Given the description of an element on the screen output the (x, y) to click on. 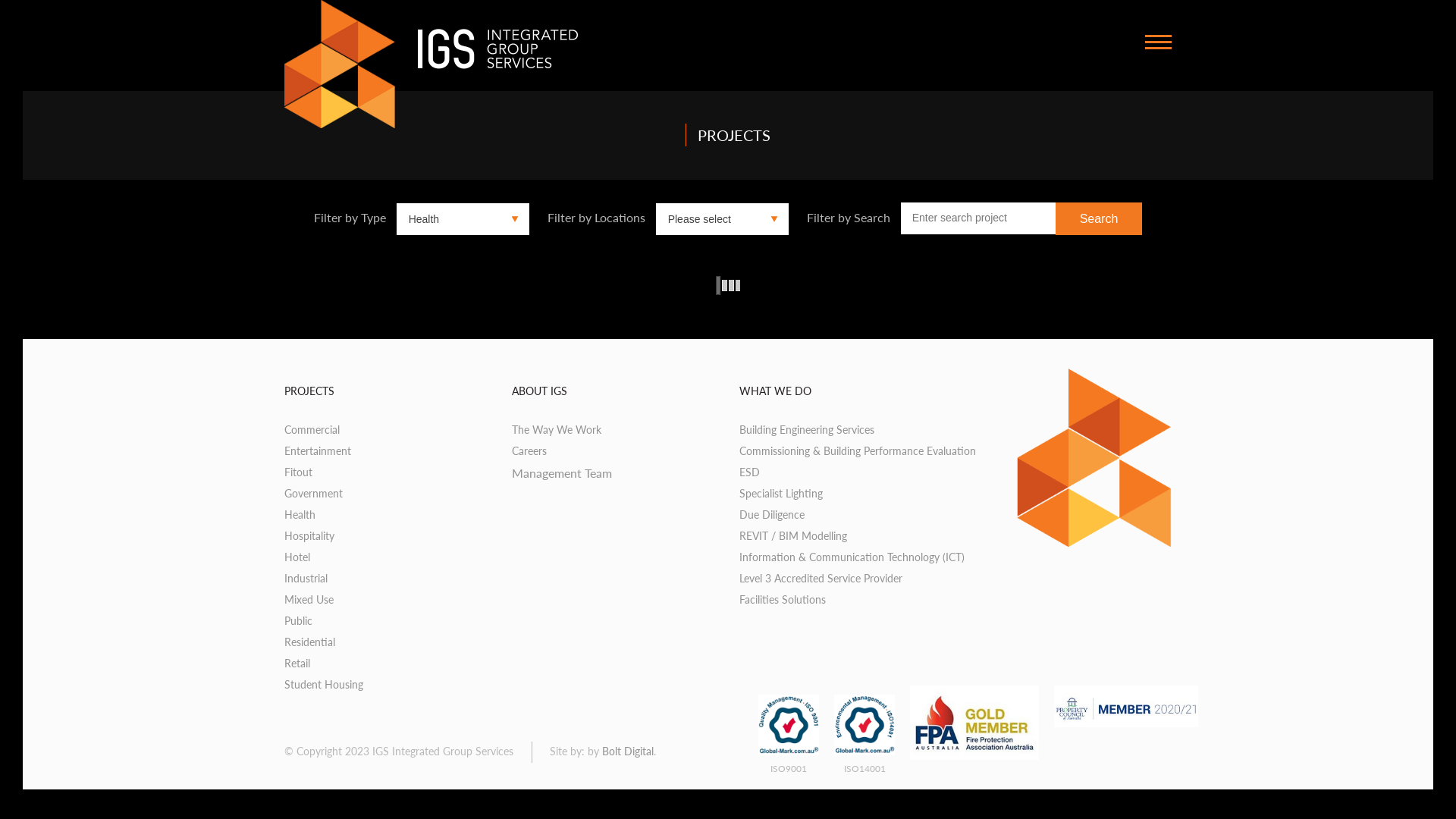
Mixed Use Element type: text (308, 599)
Commissioning & Building Performance Evaluation Element type: text (857, 450)
PROJECTS Element type: text (309, 390)
WHAT WE DO Element type: text (775, 390)
Health Element type: text (299, 514)
Fitout Element type: text (298, 472)
ABOUT IGS Element type: text (539, 390)
Due Diligence Element type: text (771, 514)
Retail Element type: text (297, 663)
ESD Element type: text (749, 472)
Hospitality Element type: text (309, 535)
Facilities Solutions Element type: text (782, 599)
Industrial Element type: text (305, 578)
Hotel Element type: text (297, 556)
Public Element type: text (298, 620)
Careers Element type: text (528, 450)
Level 3 Accredited Service Provider Element type: text (820, 578)
Entertainment Element type: text (317, 450)
Building Engineering Services Element type: text (806, 429)
REVIT / BIM Modelling Element type: text (793, 535)
The Way We Work Element type: text (556, 429)
Specialist Lighting Element type: text (780, 493)
PROPERTY COUNCIL Element type: hover (1126, 706)
Government Element type: text (313, 493)
Commercial Element type: text (311, 429)
Residential Element type: text (309, 641)
Student Housing Element type: text (323, 684)
Management Team Element type: text (561, 472)
Loading... Element type: text (727, 285)
Search Element type: text (1098, 218)
Bolt Digital Element type: text (627, 750)
Information & Communication Technology (ICT) Element type: text (851, 556)
